Given the description of an element on the screen output the (x, y) to click on. 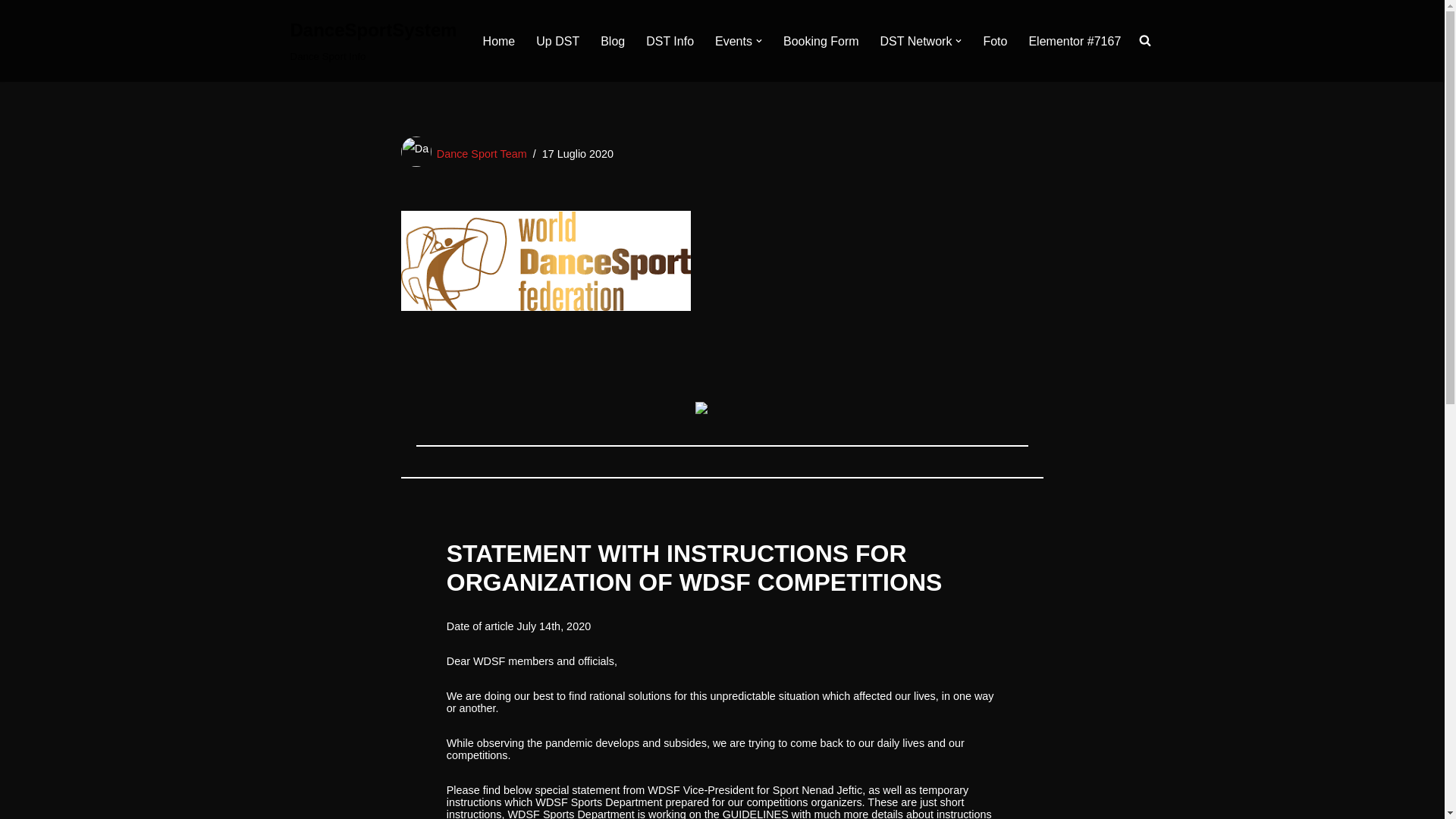
Vai al contenuto (11, 31)
DST Network (916, 41)
Foto (994, 41)
DST Info (670, 41)
Home (499, 41)
Events (733, 41)
Blog (611, 41)
Articoli di Dance Sport Team (373, 40)
Up DST (481, 153)
